Given the description of an element on the screen output the (x, y) to click on. 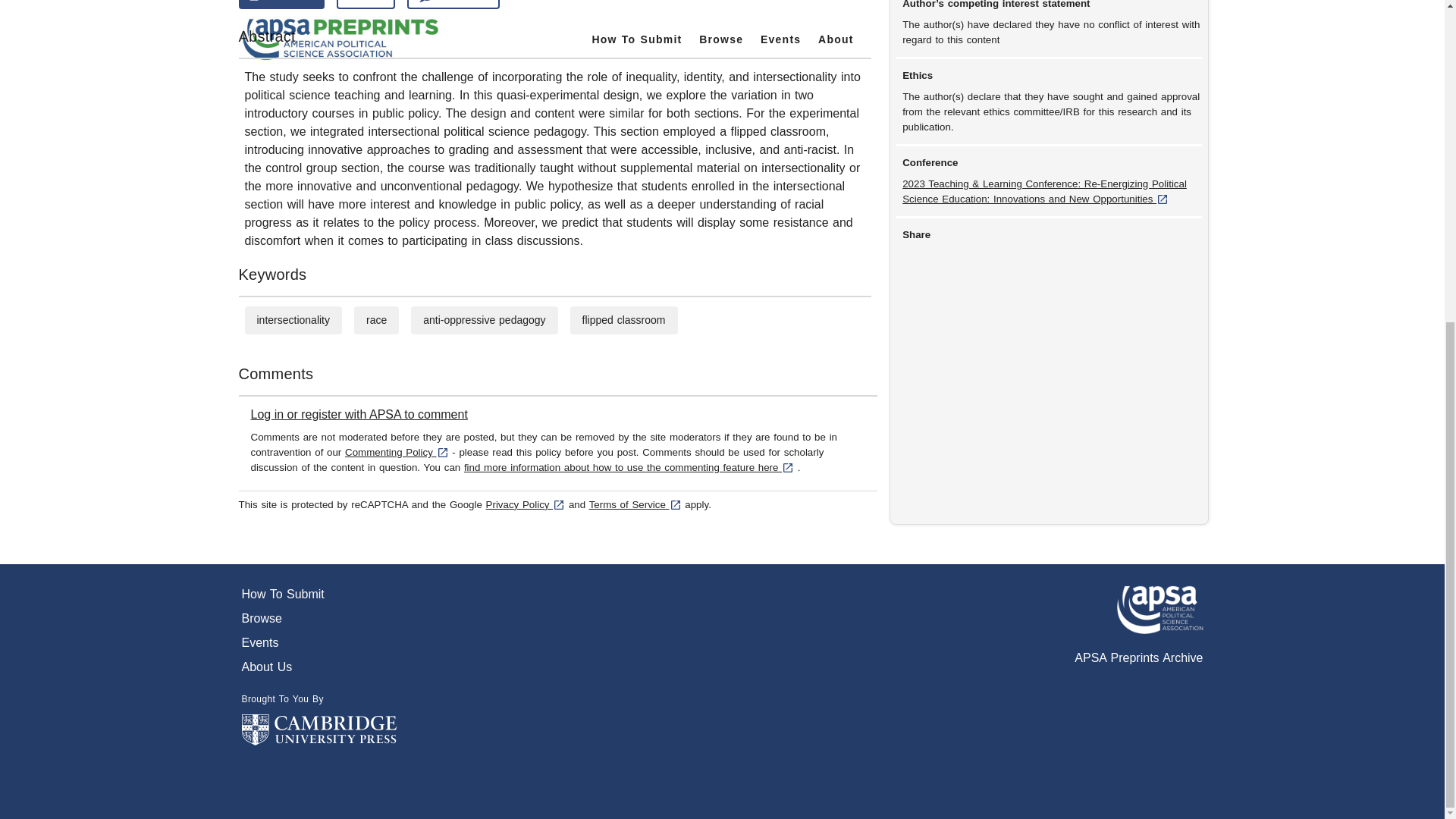
Events (318, 642)
How To Submit (318, 594)
Download (280, 4)
flipped classroom (623, 319)
Comment (453, 4)
Log in or register with APSA to comment (358, 414)
intersectionality (293, 319)
Browse (318, 618)
anti-oppressive pedagogy (483, 319)
About Us (318, 667)
race (376, 319)
Cite (365, 4)
